Given the description of an element on the screen output the (x, y) to click on. 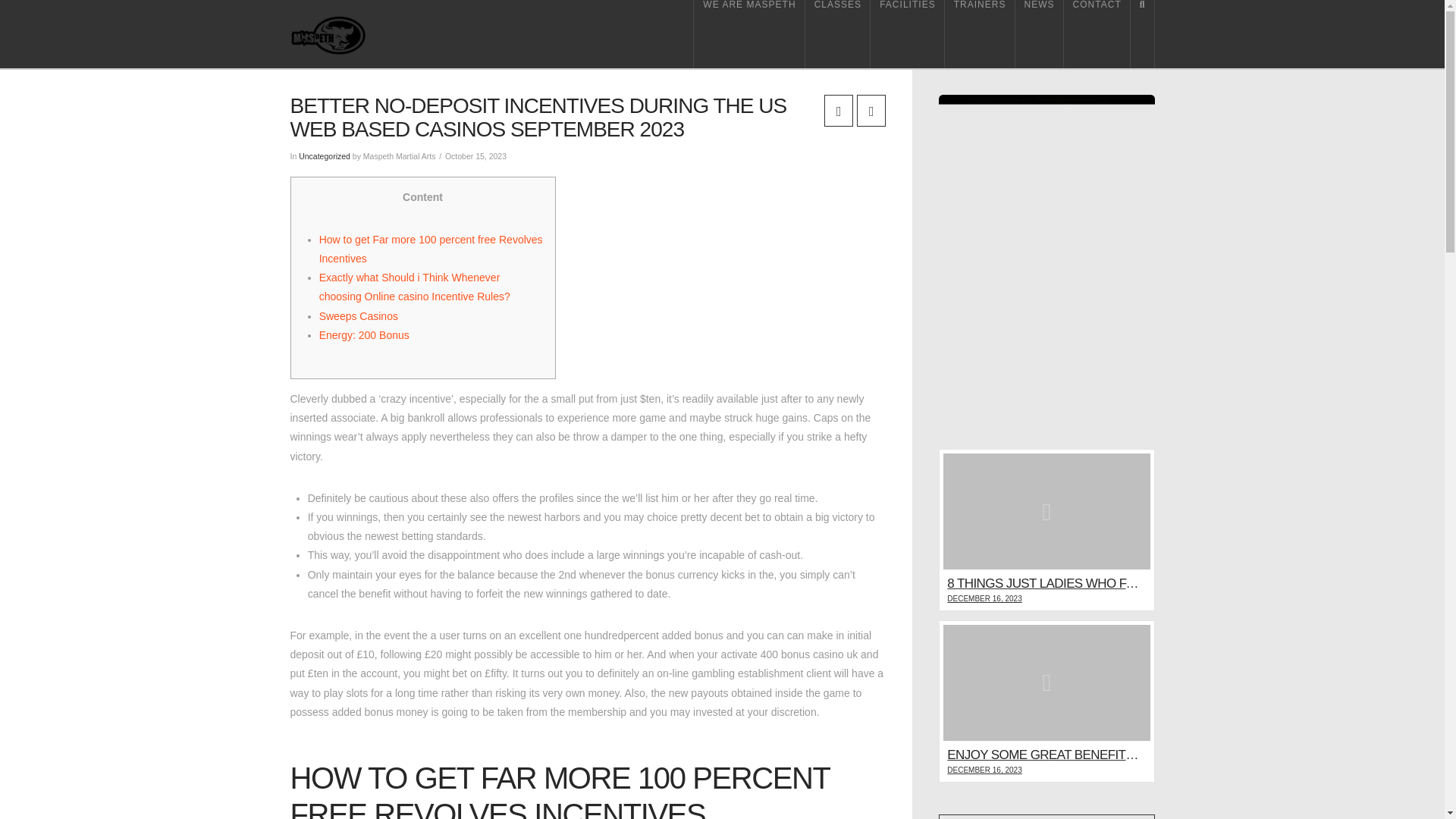
FACILITIES (907, 33)
CLASSES (837, 33)
CONTACT (1097, 33)
Sweeps Casinos (357, 316)
Uncategorized (324, 155)
Energy: 200 Bonus (363, 335)
WE ARE MASPETH (749, 33)
TRAINERS (979, 33)
How to get Far more 100 percent free Revolves Incentives (430, 248)
